Given the description of an element on the screen output the (x, y) to click on. 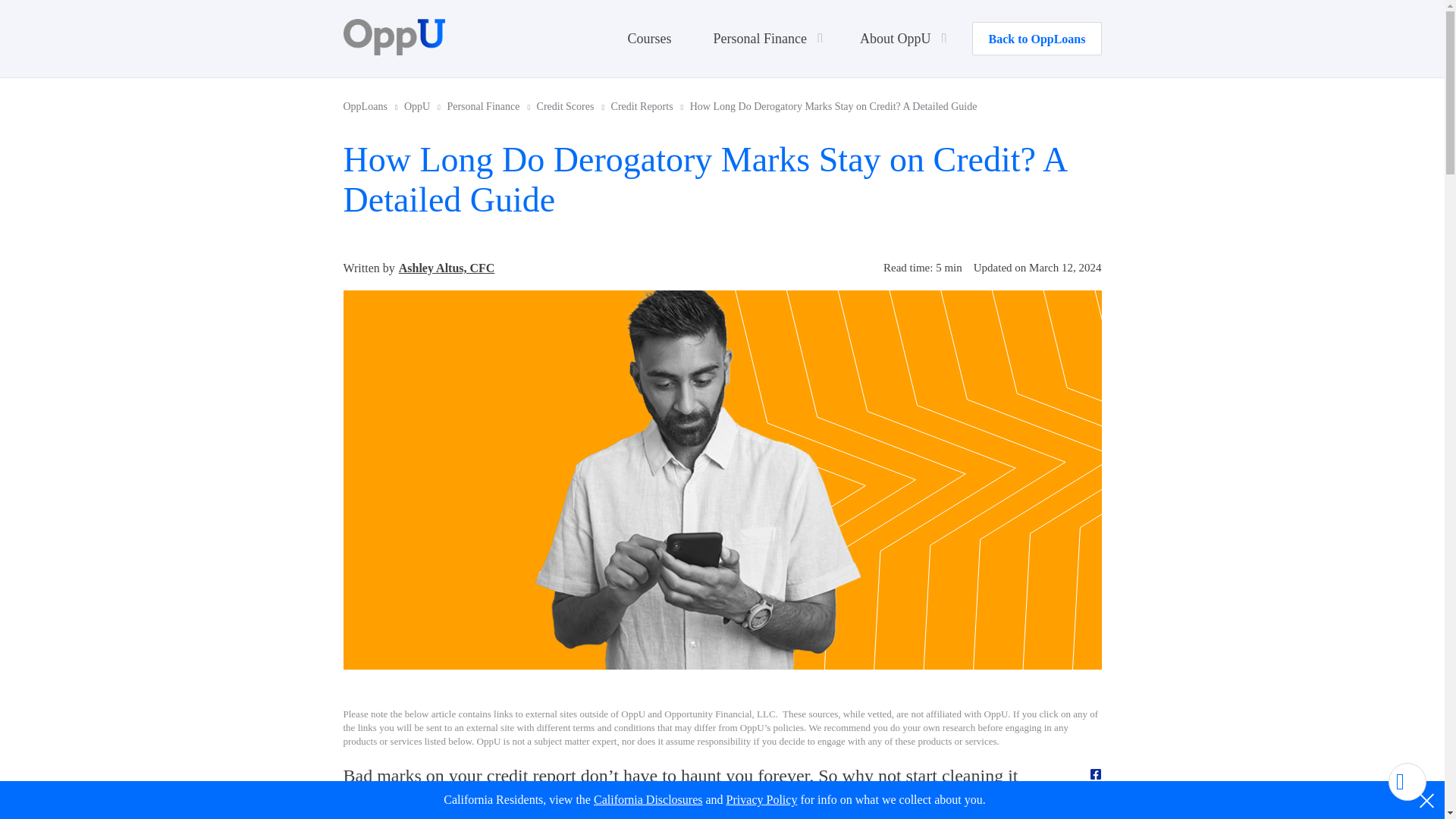
Credit Reports (649, 106)
Credit Scores (572, 106)
Courses (648, 38)
Personal Finance (490, 106)
OppU (424, 106)
Personal Finance (764, 38)
About OppU (900, 38)
OppLoans (371, 106)
Back to OppLoans (1036, 38)
